Given the description of an element on the screen output the (x, y) to click on. 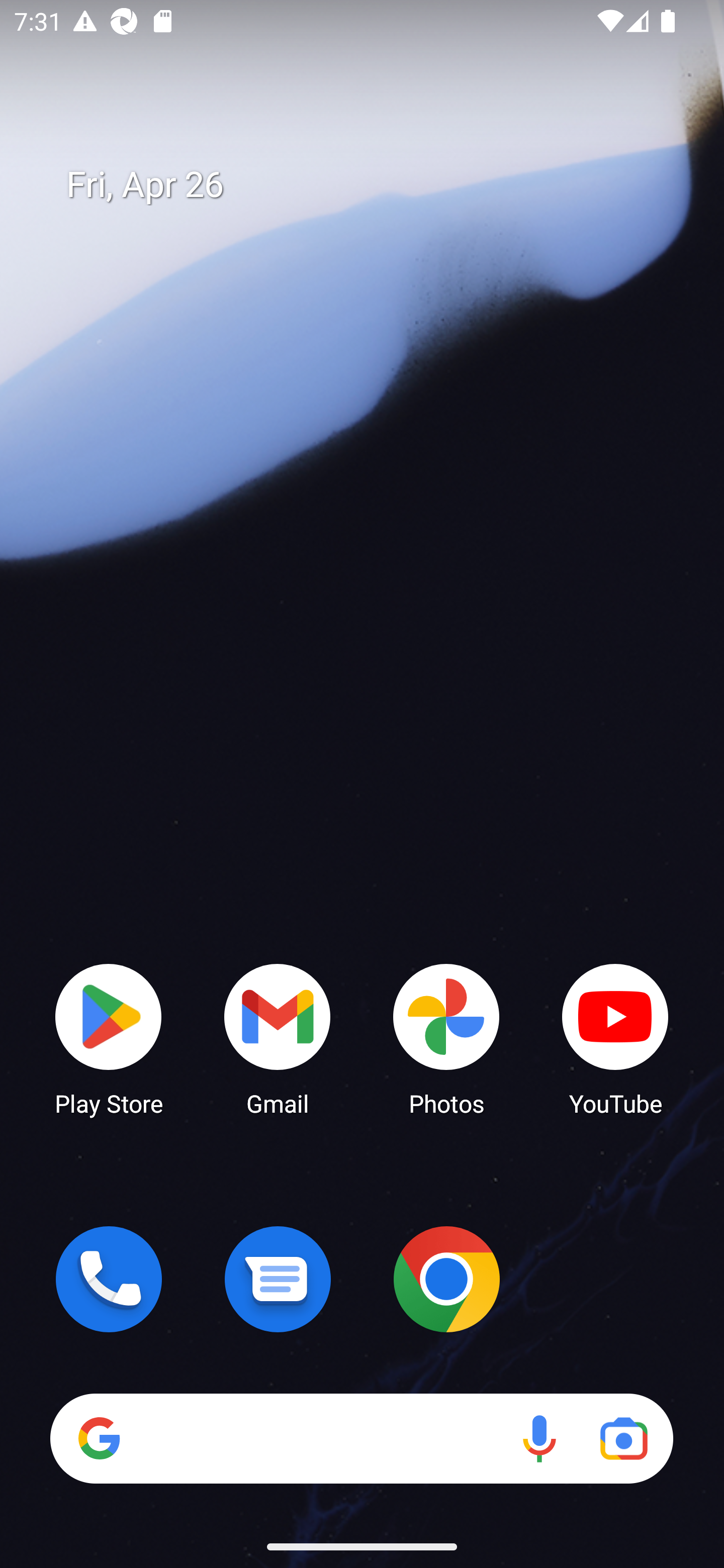
Fri, Apr 26 (375, 184)
Play Store (108, 1038)
Gmail (277, 1038)
Photos (445, 1038)
YouTube (615, 1038)
Phone (108, 1279)
Messages (277, 1279)
Chrome (446, 1279)
Search Voice search Google Lens (361, 1438)
Voice search (539, 1438)
Google Lens (623, 1438)
